Given the description of an element on the screen output the (x, y) to click on. 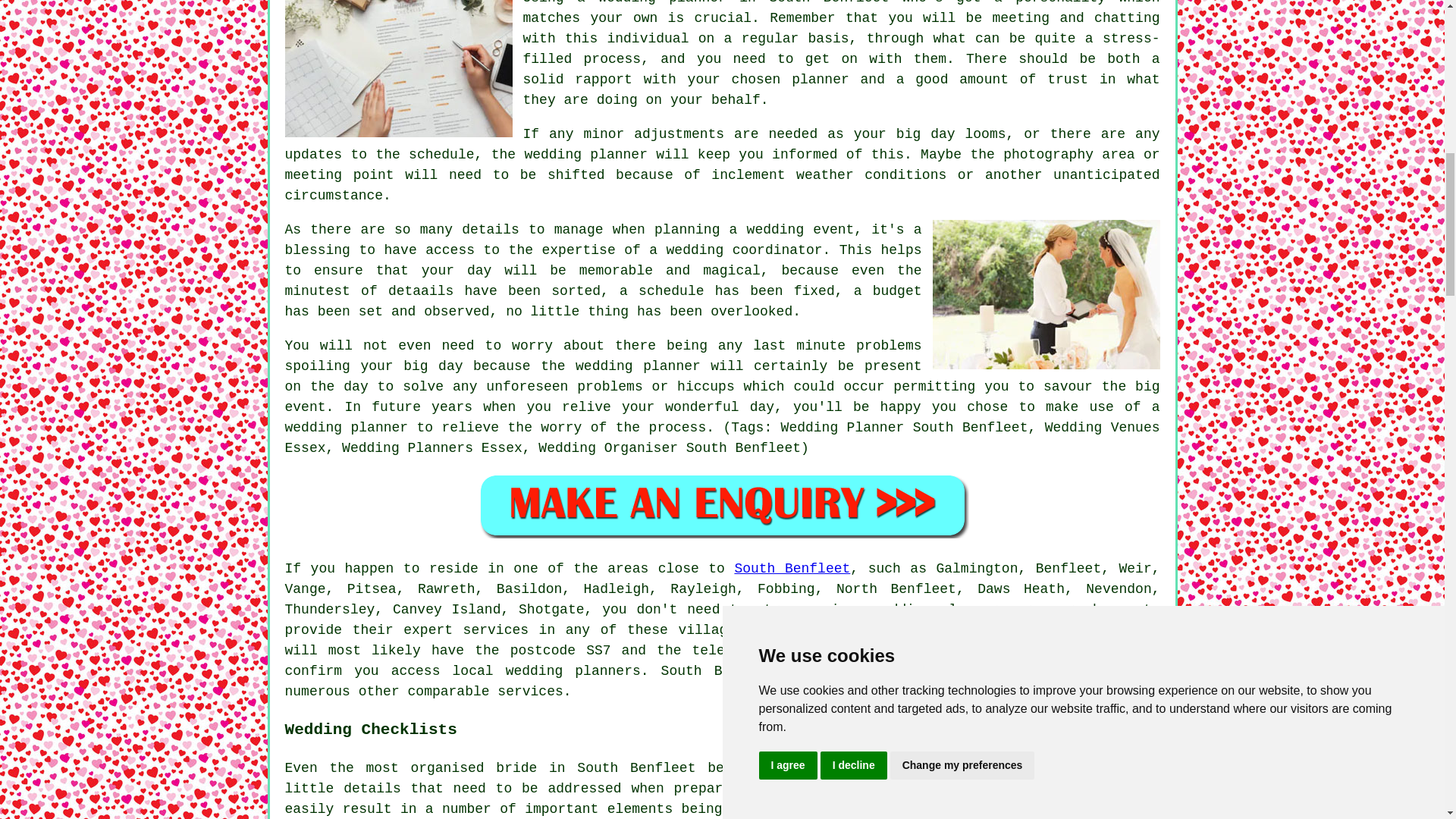
Wedding Checklist South Benfleet (1095, 788)
Click to Find a Wedding Planner in South Benfleet (722, 505)
wedding planners (939, 609)
